Given the description of an element on the screen output the (x, y) to click on. 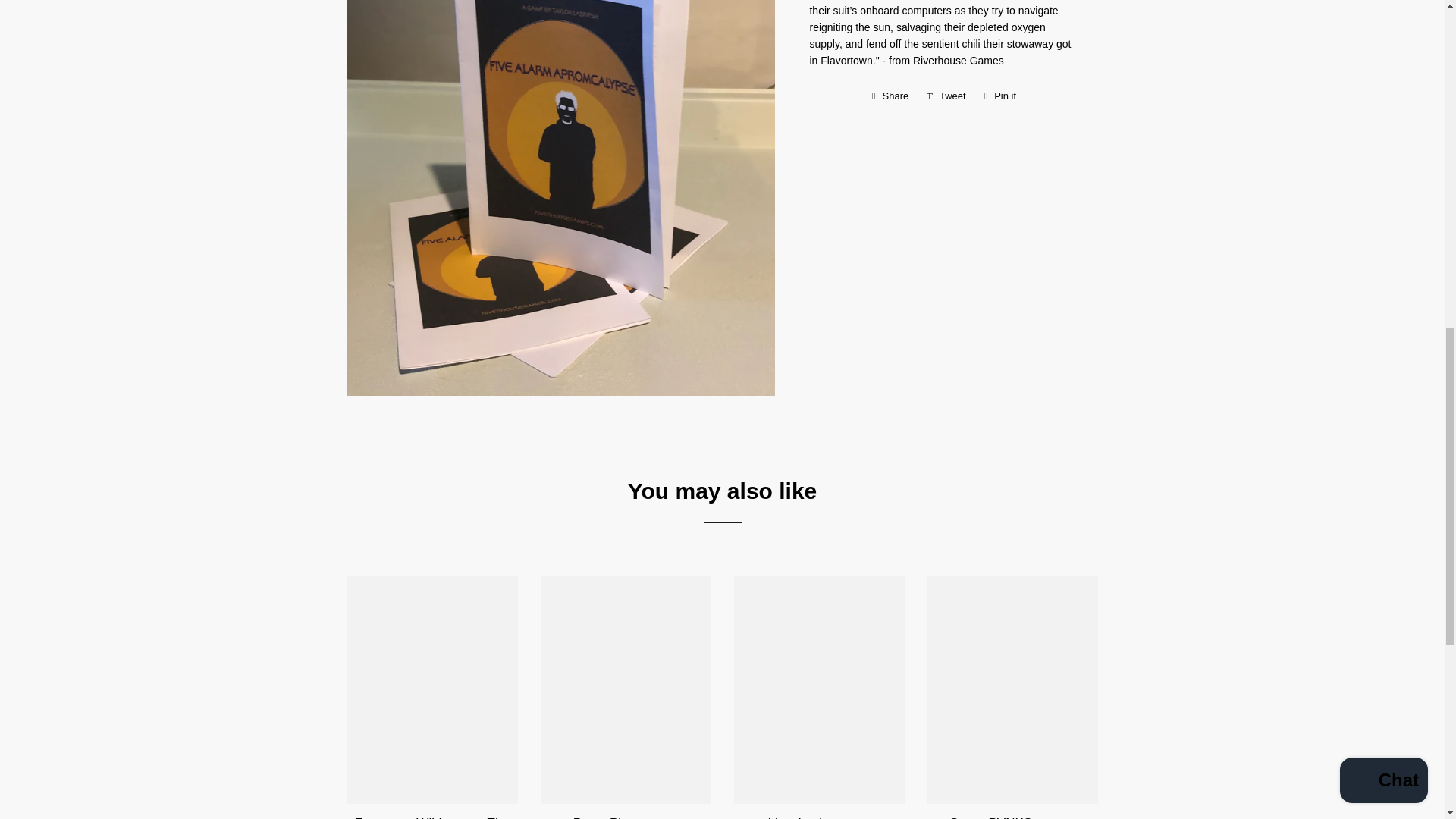
Share on Facebook (889, 96)
Tweet on Twitter (946, 96)
Pin on Pinterest (889, 96)
